Given the description of an element on the screen output the (x, y) to click on. 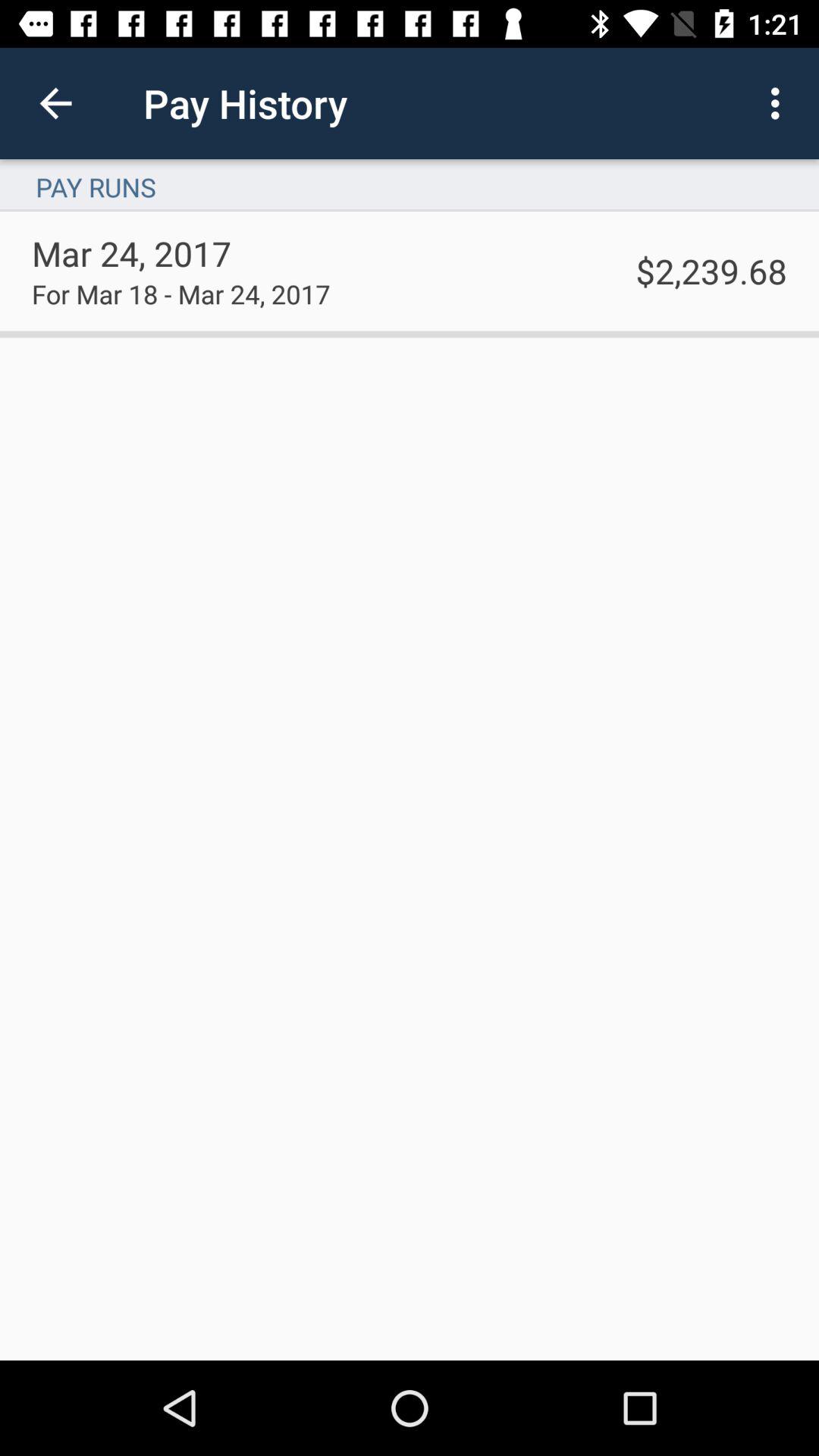
launch the icon to the left of pay history icon (55, 103)
